Given the description of an element on the screen output the (x, y) to click on. 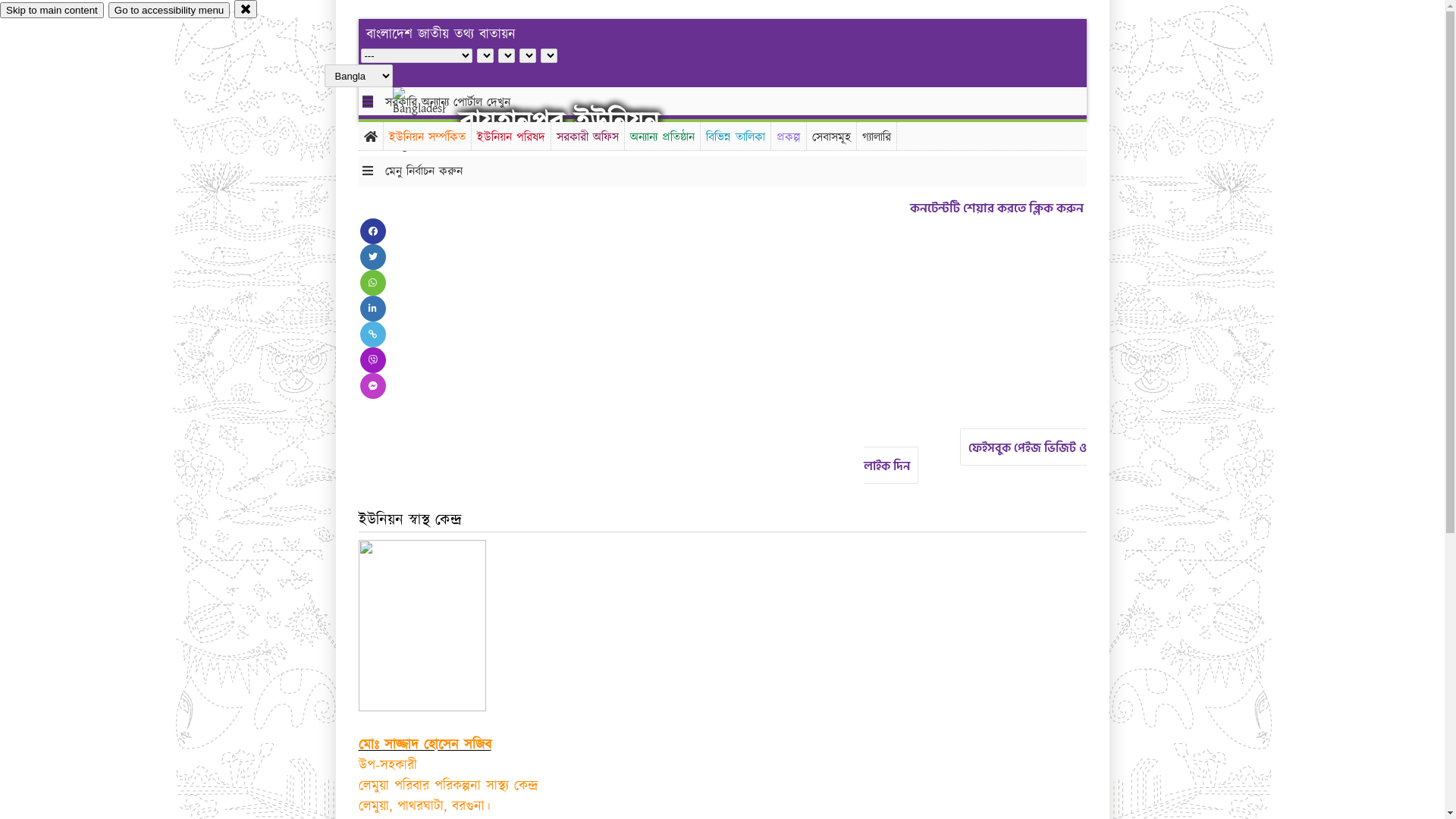
Skip to main content Element type: text (51, 10)
close Element type: hover (245, 9)

                
             Element type: hover (431, 120)
Go to accessibility menu Element type: text (168, 10)
